Given the description of an element on the screen output the (x, y) to click on. 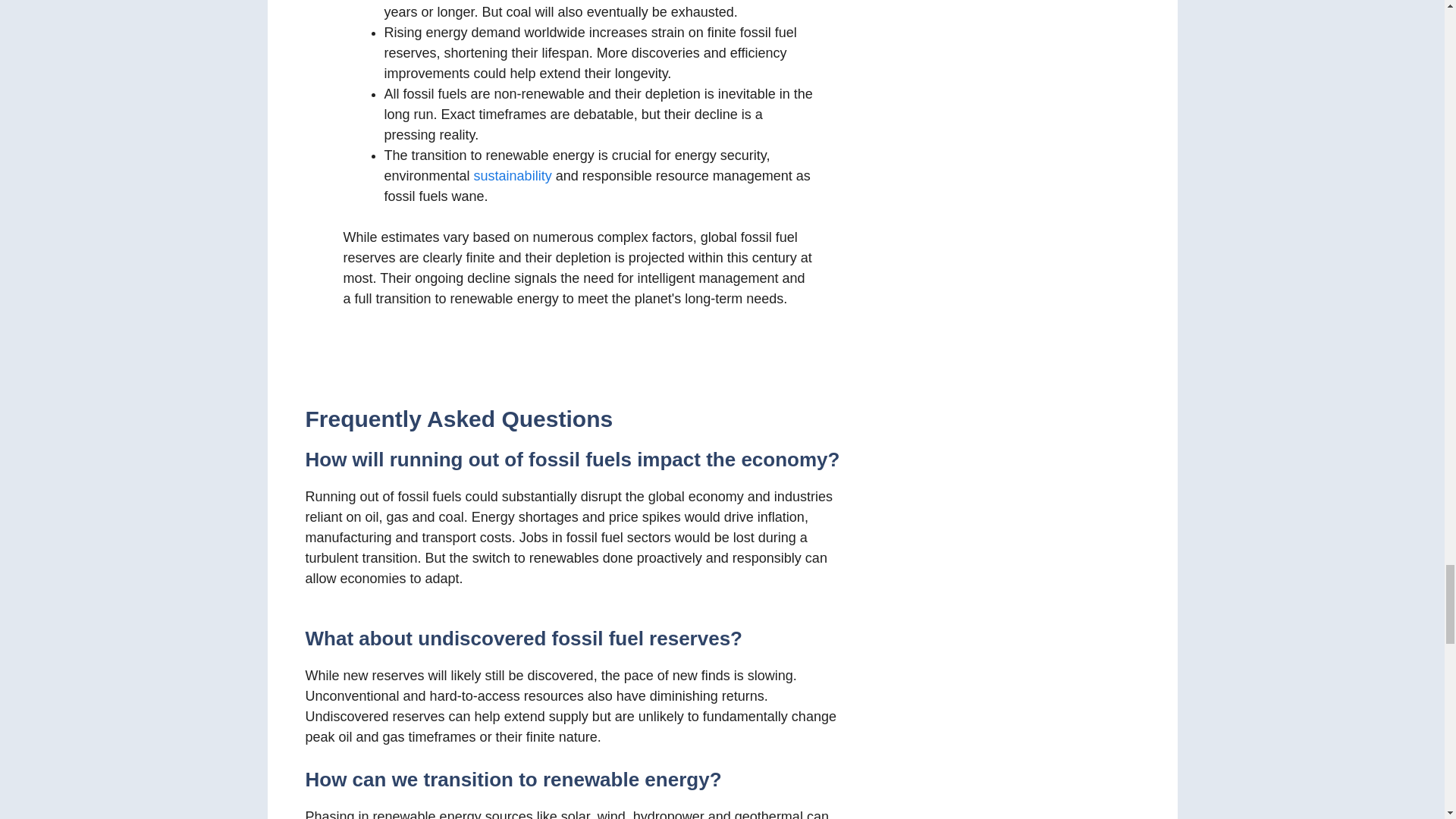
Posts tagged with sustainability (512, 175)
